Given the description of an element on the screen output the (x, y) to click on. 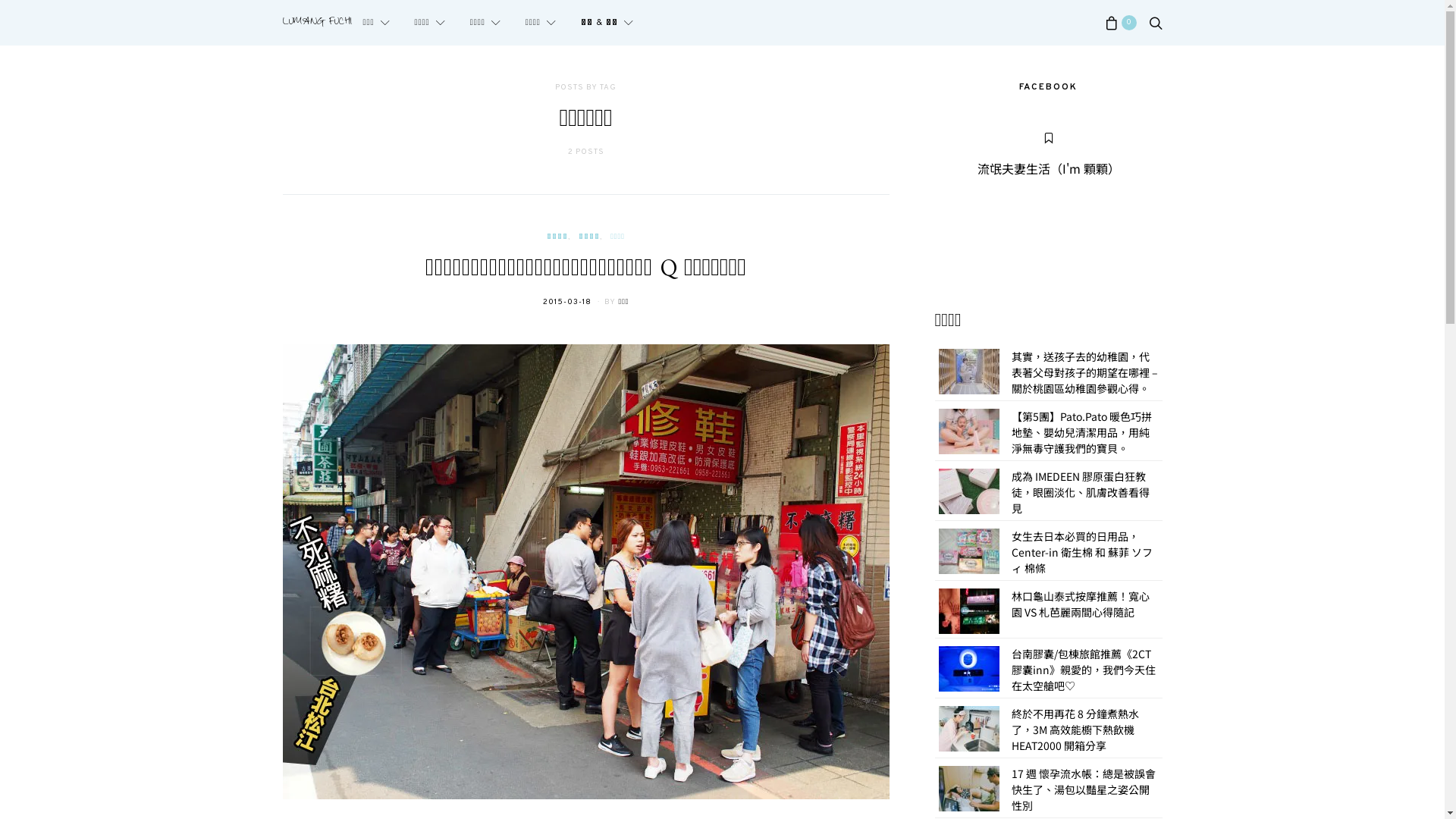
2015-03-18 Element type: text (566, 302)
LUMANG FUCHI Element type: text (316, 22)
0 Element type: text (1119, 22)
